Given the description of an element on the screen output the (x, y) to click on. 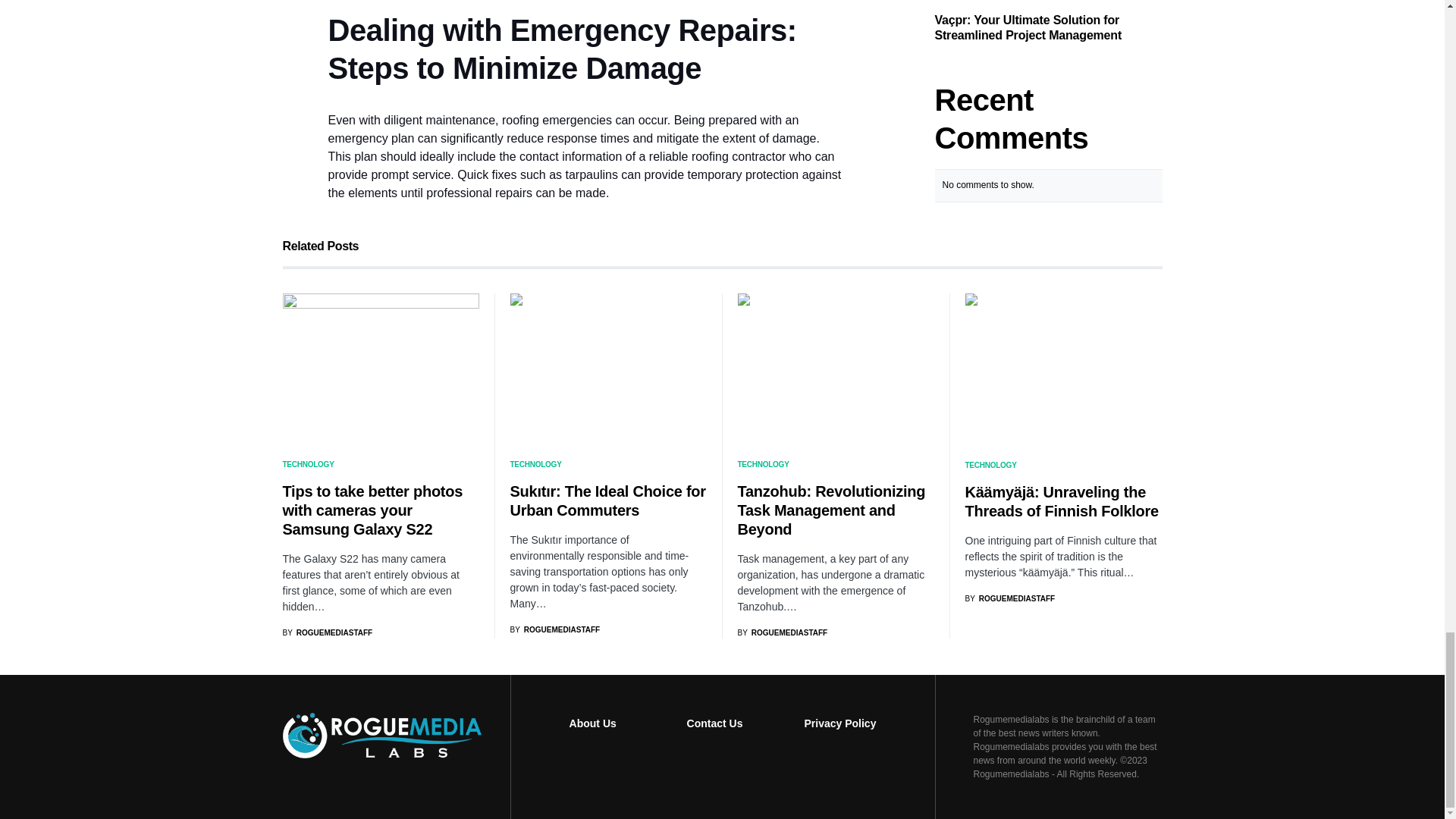
View all posts by RogueMediaStaff (1008, 597)
View all posts by RogueMediaStaff (554, 629)
View all posts by RogueMediaStaff (781, 632)
View all posts by RogueMediaStaff (327, 632)
